Given the description of an element on the screen output the (x, y) to click on. 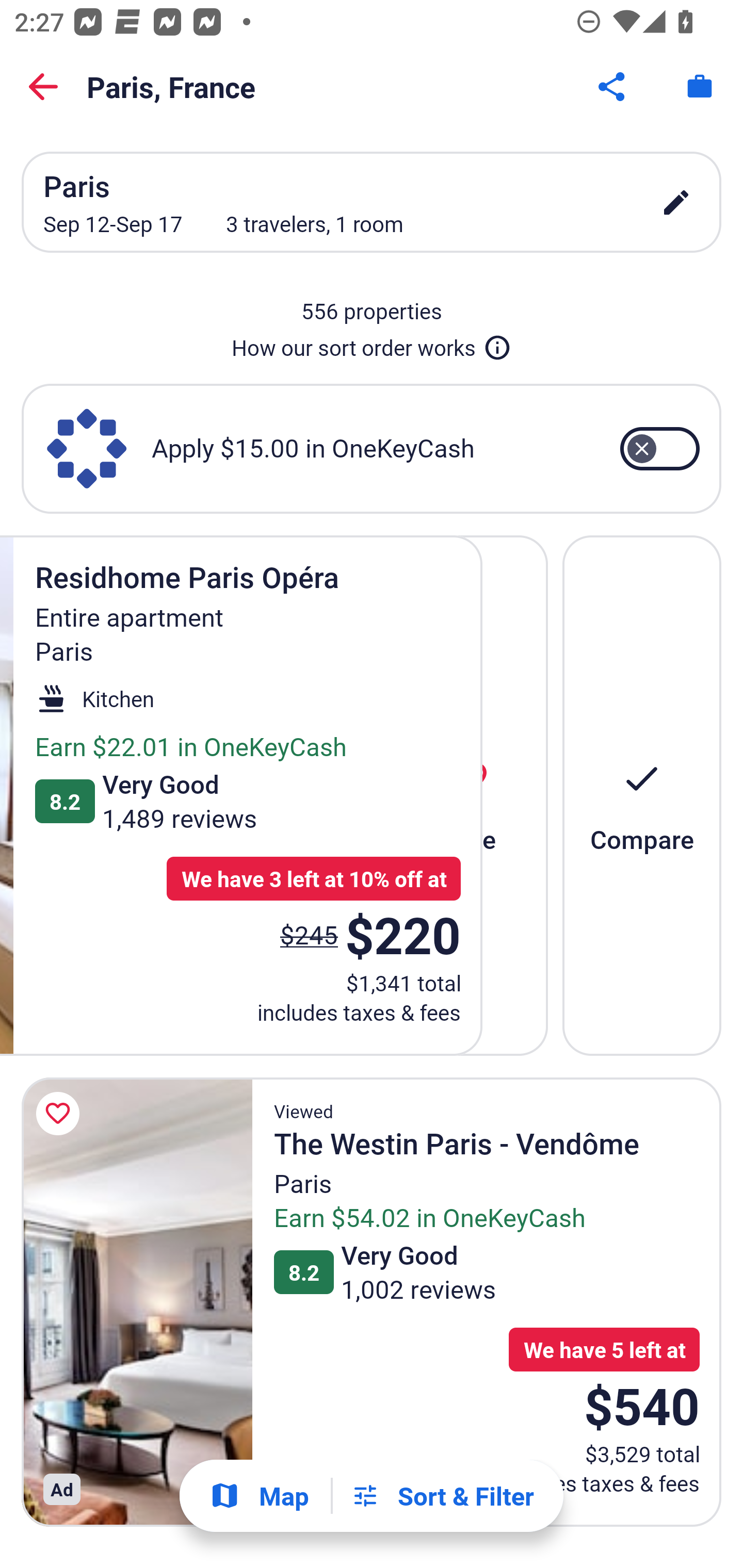
Back (43, 86)
Share Button (612, 86)
Trips. Button (699, 86)
Paris Sep 12-Sep 17 3 travelers, 1 room edit (371, 202)
How our sort order works (371, 344)
Save The Westin Paris - Vendôme to a trip (61, 1113)
The Westin Paris - Vendôme (136, 1302)
Filters Sort & Filter Filters Button (442, 1495)
Show map Map Show map Button (258, 1495)
